Given the description of an element on the screen output the (x, y) to click on. 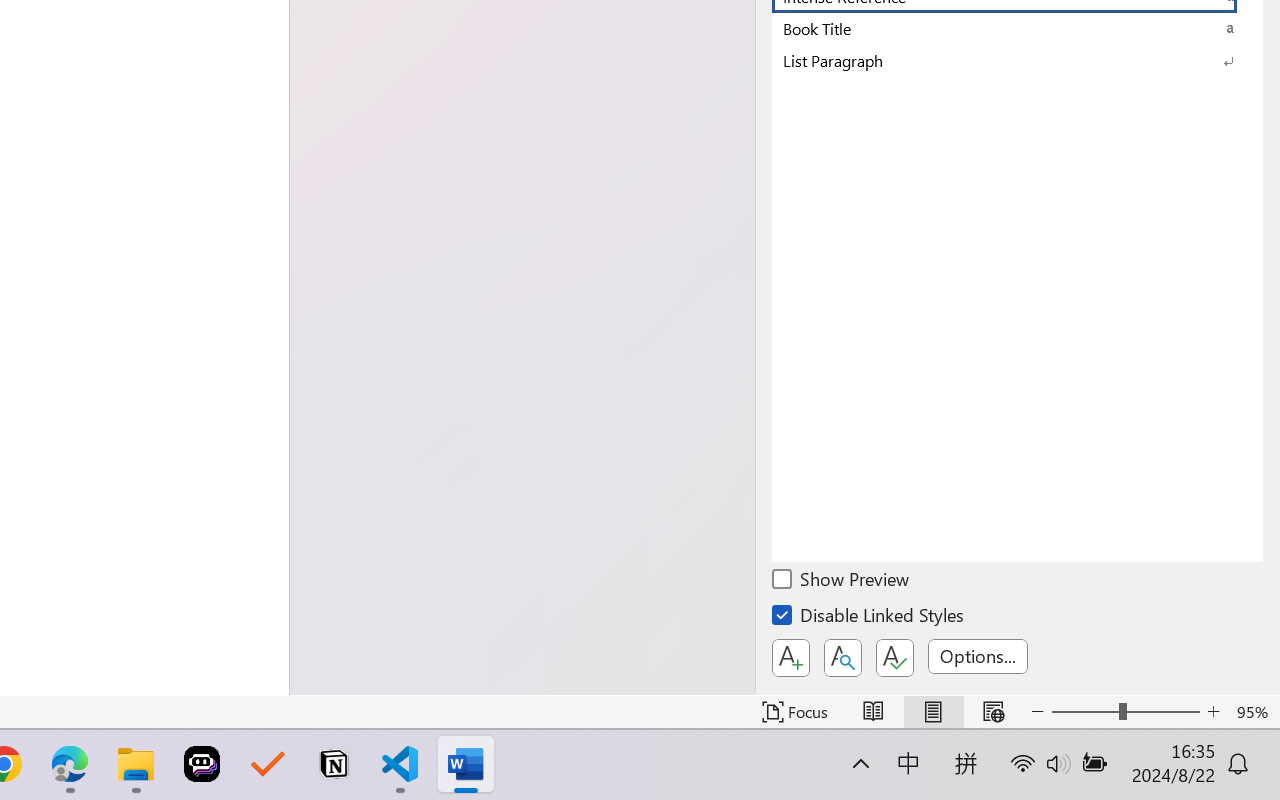
List Paragraph (1017, 60)
Zoom 95% (1253, 712)
Disable Linked Styles (869, 618)
Options... (977, 656)
Show Preview (841, 582)
Class: NetUIButton (894, 657)
Book Title (1017, 28)
